Given the description of an element on the screen output the (x, y) to click on. 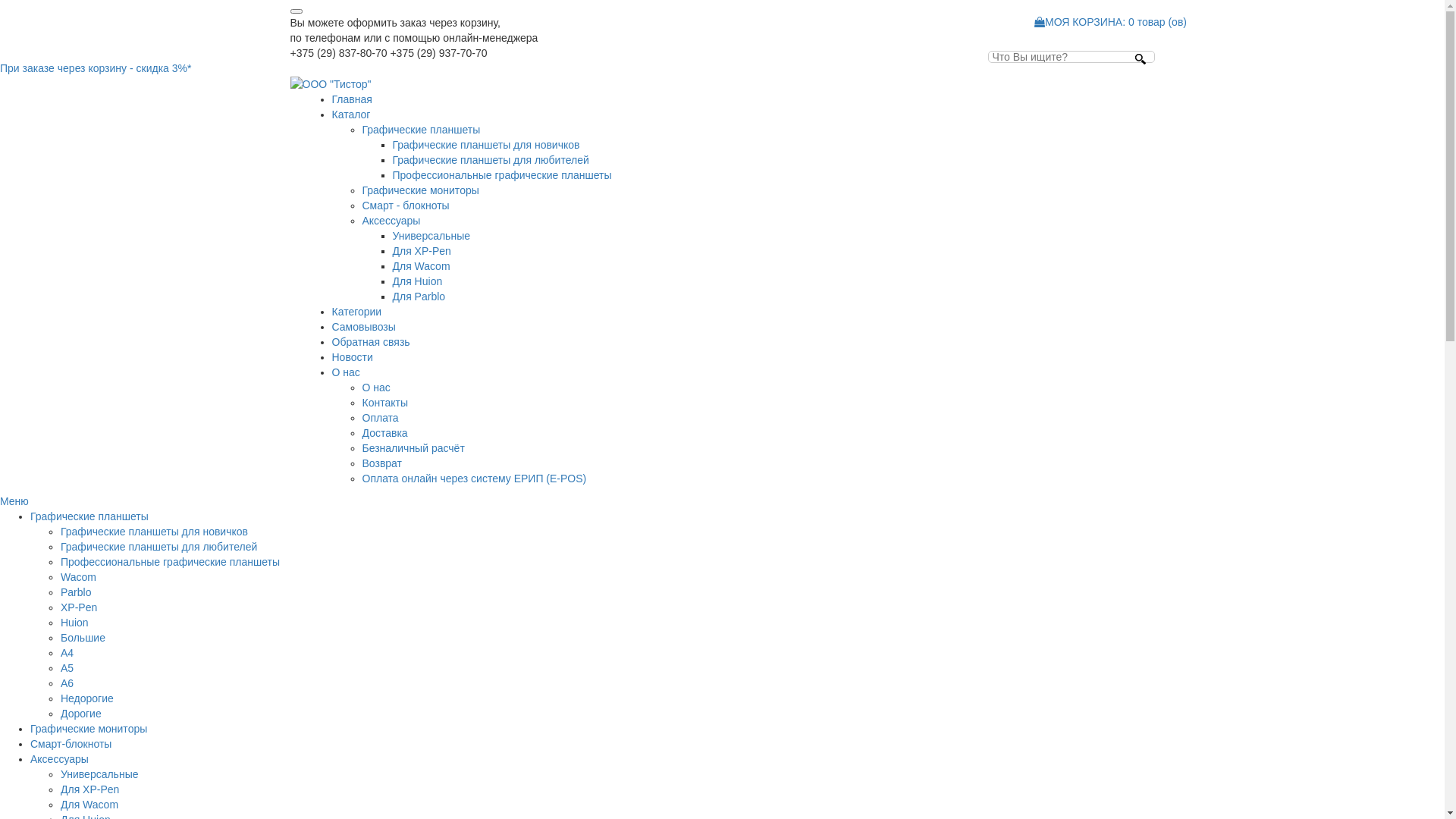
Huion Element type: text (74, 622)
Wacom Element type: text (78, 577)
XP-Pen Element type: text (78, 607)
Parblo Element type: text (75, 592)
